Given the description of an element on the screen output the (x, y) to click on. 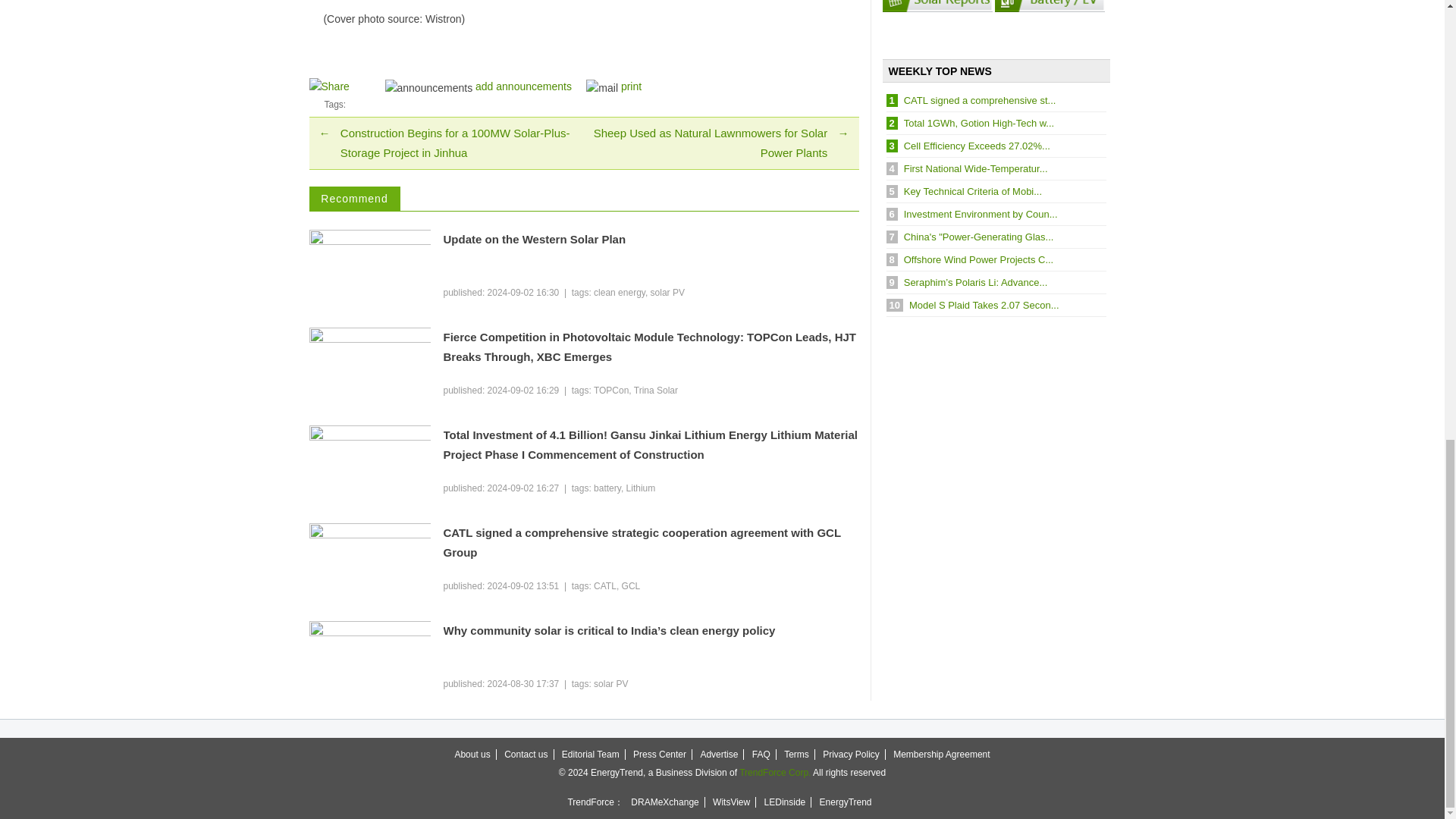
Update on the Western Solar Plan (650, 239)
